Given the description of an element on the screen output the (x, y) to click on. 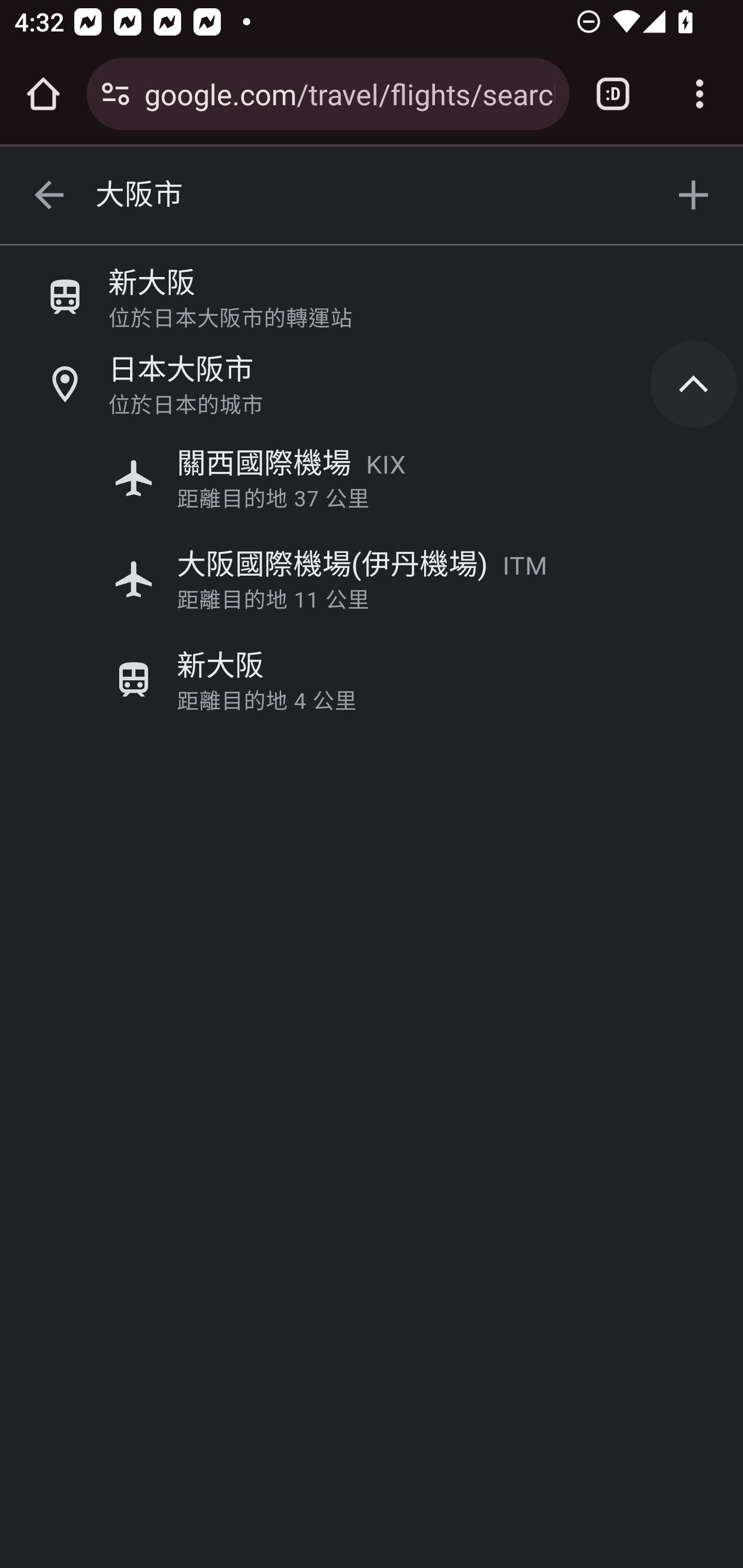
Open the home page (43, 93)
Connection is secure (115, 93)
Switch or close tabs (612, 93)
Customize and control Google Chrome (699, 93)
上一頁 (48, 195)
大阪市 (372, 195)
目的地, 選擇多個機場 (694, 195)
切換日本大阪市附近的機場 (694, 383)
